Given the description of an element on the screen output the (x, y) to click on. 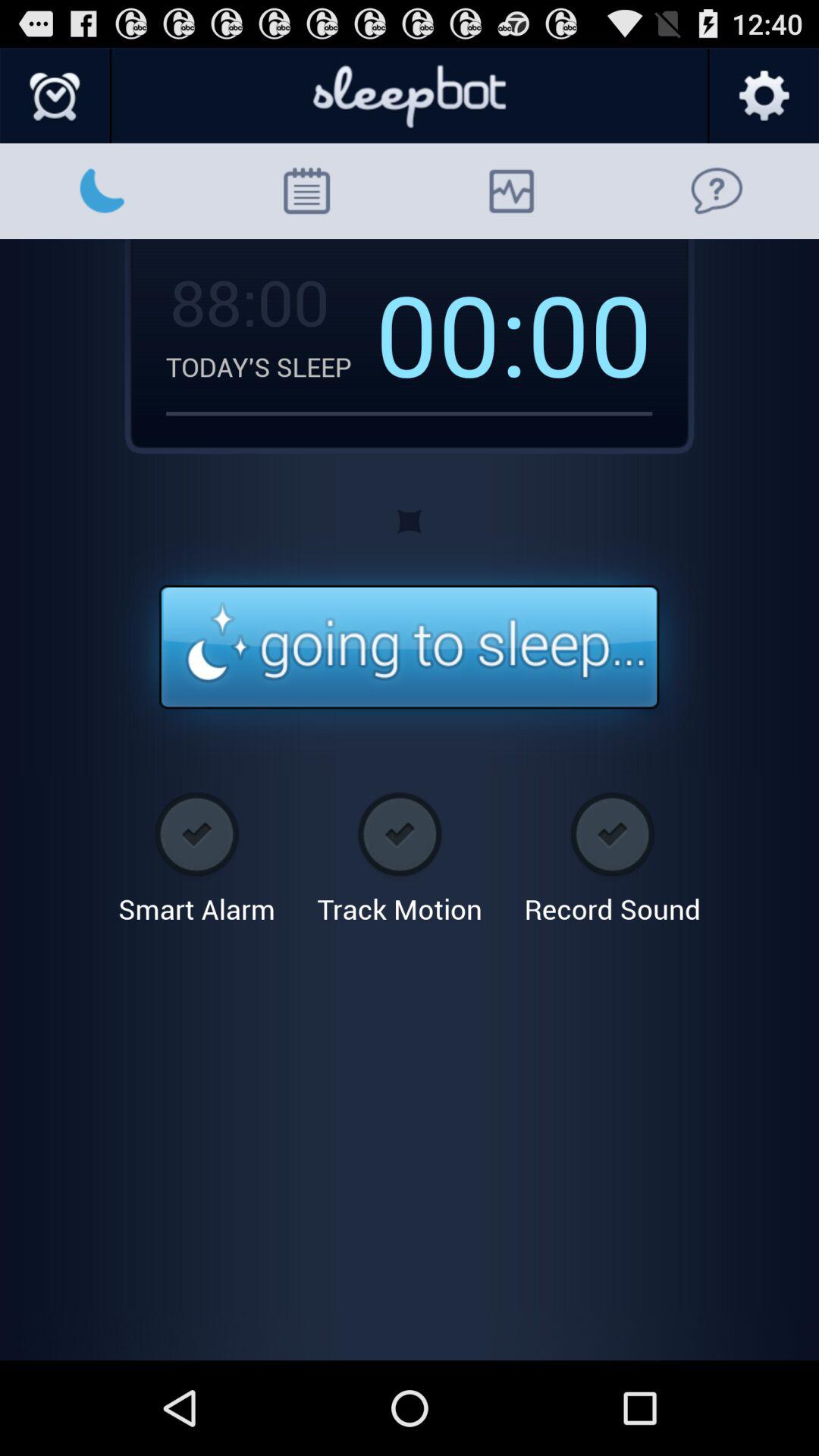
settings (763, 96)
